Given the description of an element on the screen output the (x, y) to click on. 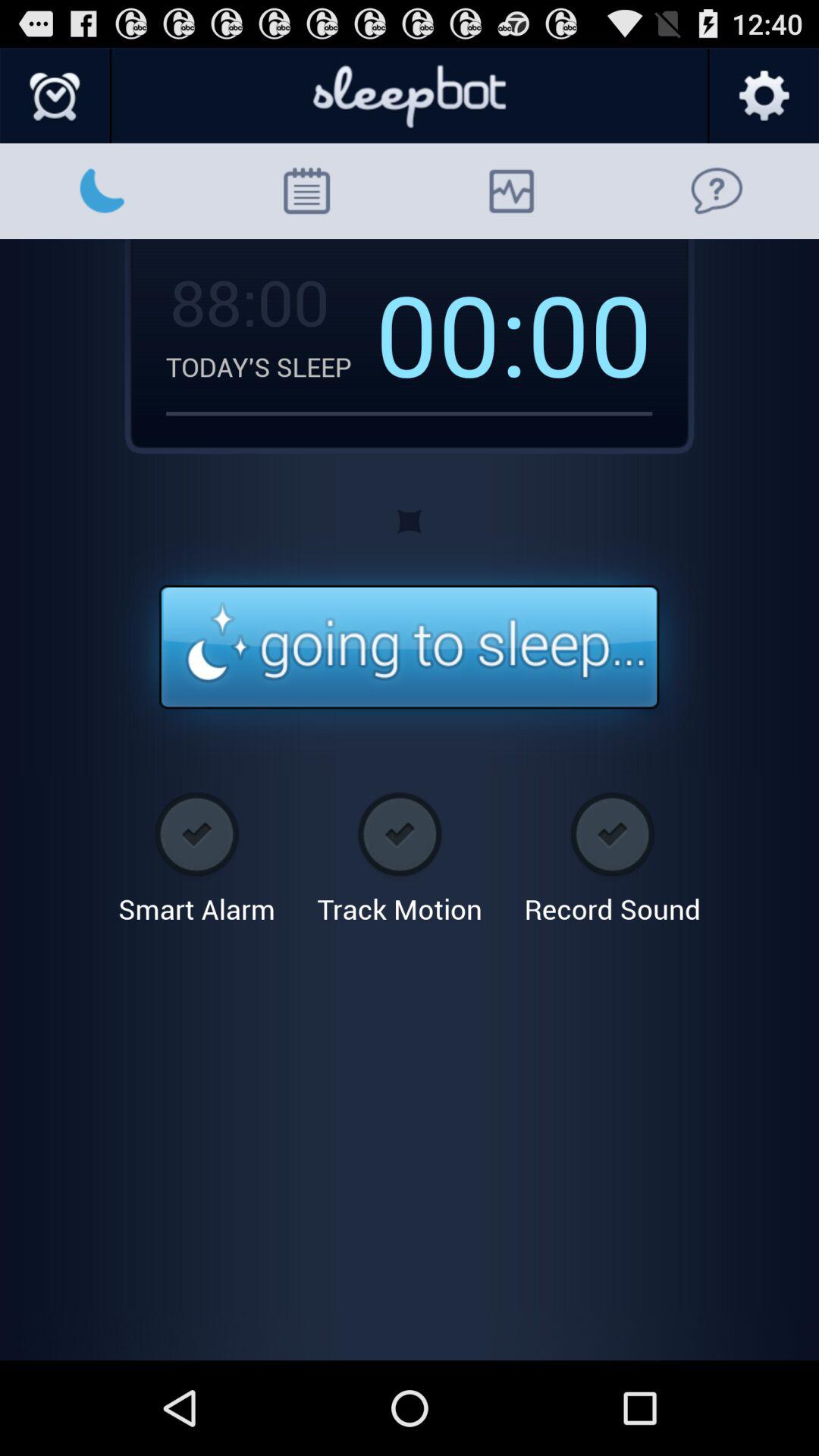
settings (763, 96)
